Given the description of an element on the screen output the (x, y) to click on. 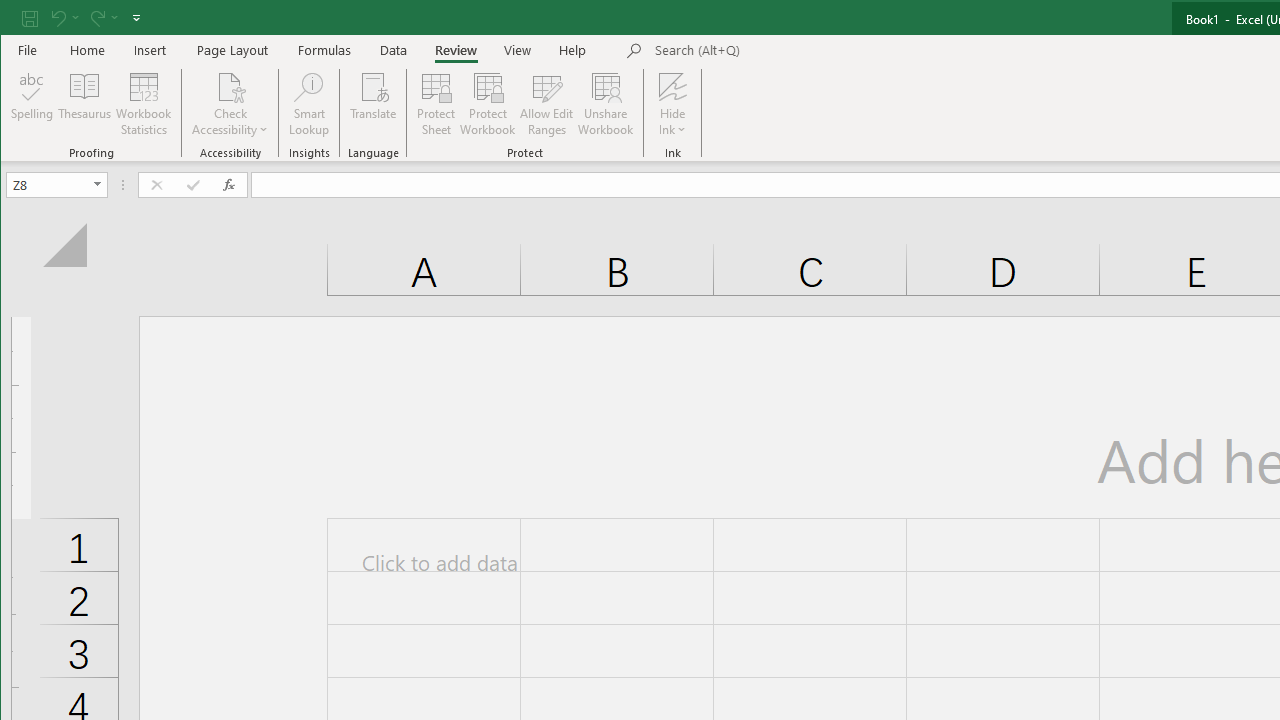
Protect Workbook... (488, 104)
Unshare Workbook (606, 104)
Thesaurus... (84, 104)
Allow Edit Ranges (547, 104)
Protect Sheet... (436, 104)
